Given the description of an element on the screen output the (x, y) to click on. 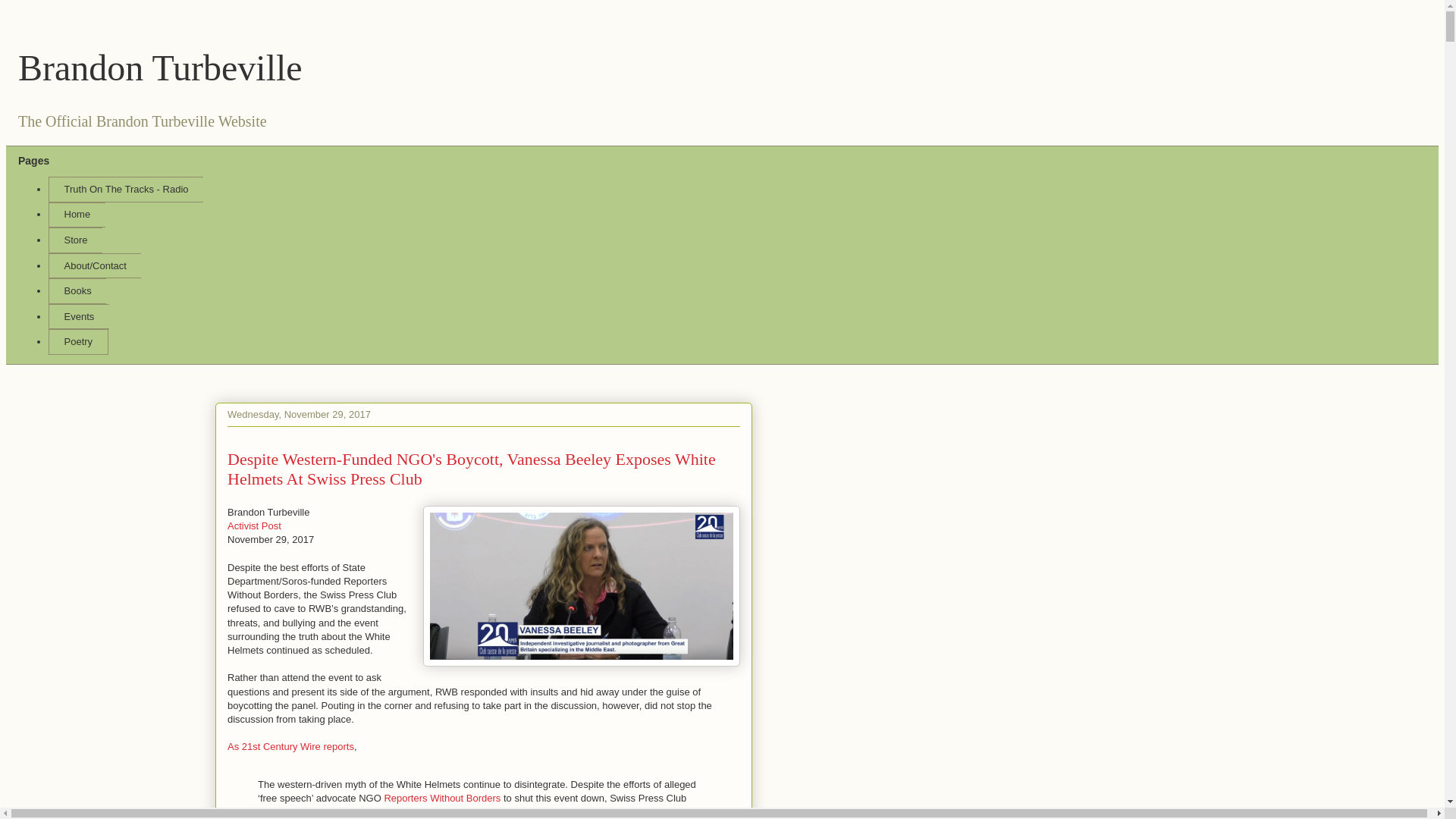
Reporters Without Borders (442, 797)
Events (78, 316)
Truth On The Tracks - Radio (125, 189)
Books (77, 290)
Brandon Turbeville (159, 67)
Home (76, 215)
Store (74, 240)
Activist Post (254, 525)
Poetry (77, 341)
As 21st Century Wire reports (290, 746)
